Given the description of an element on the screen output the (x, y) to click on. 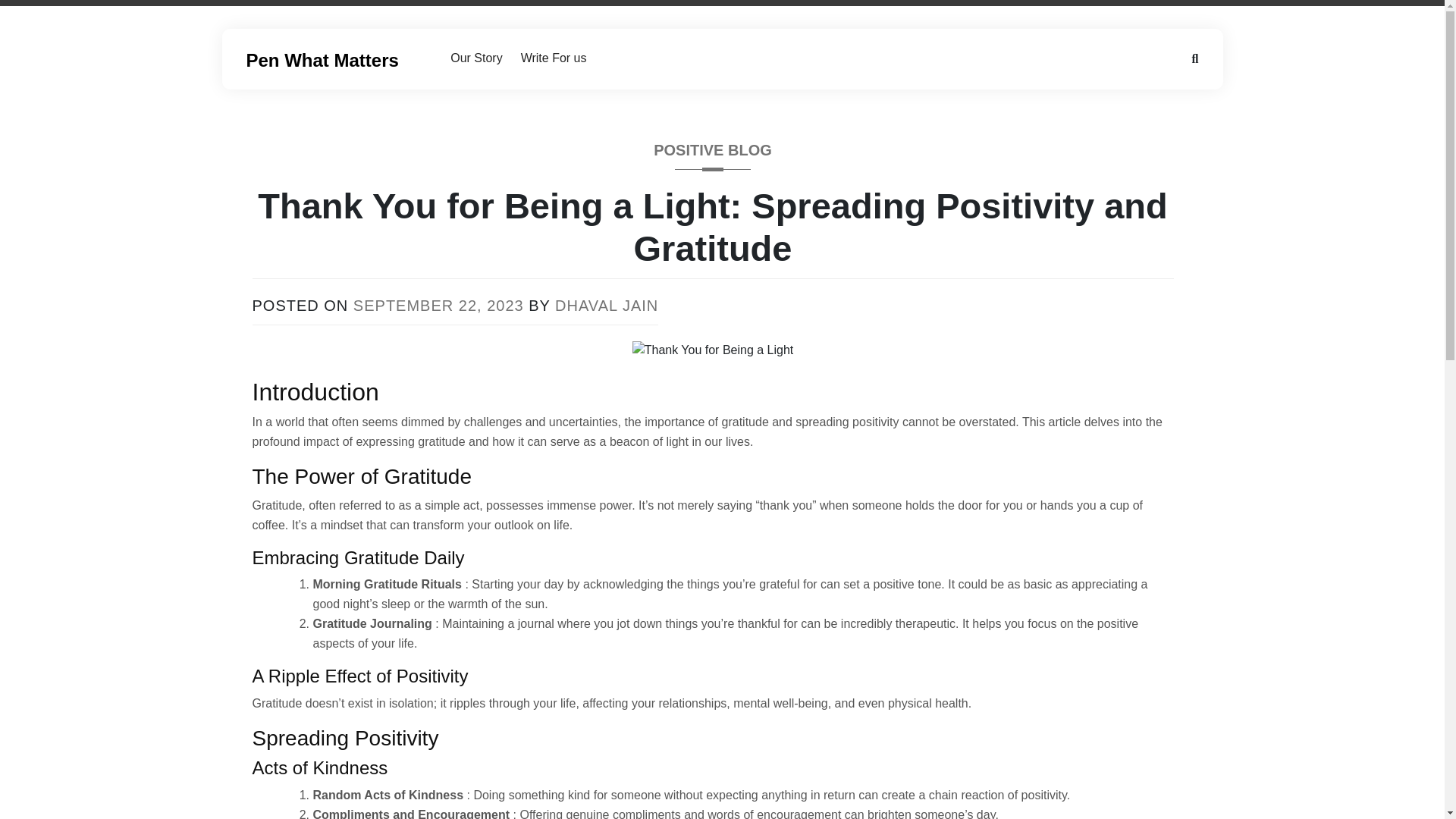
Write For us (553, 58)
Pen What Matters (321, 59)
Search (32, 12)
POSITIVE BLOG (712, 155)
Our Story (476, 58)
SEPTEMBER 22, 2023 (438, 305)
DHAVAL JAIN (606, 305)
